Given the description of an element on the screen output the (x, y) to click on. 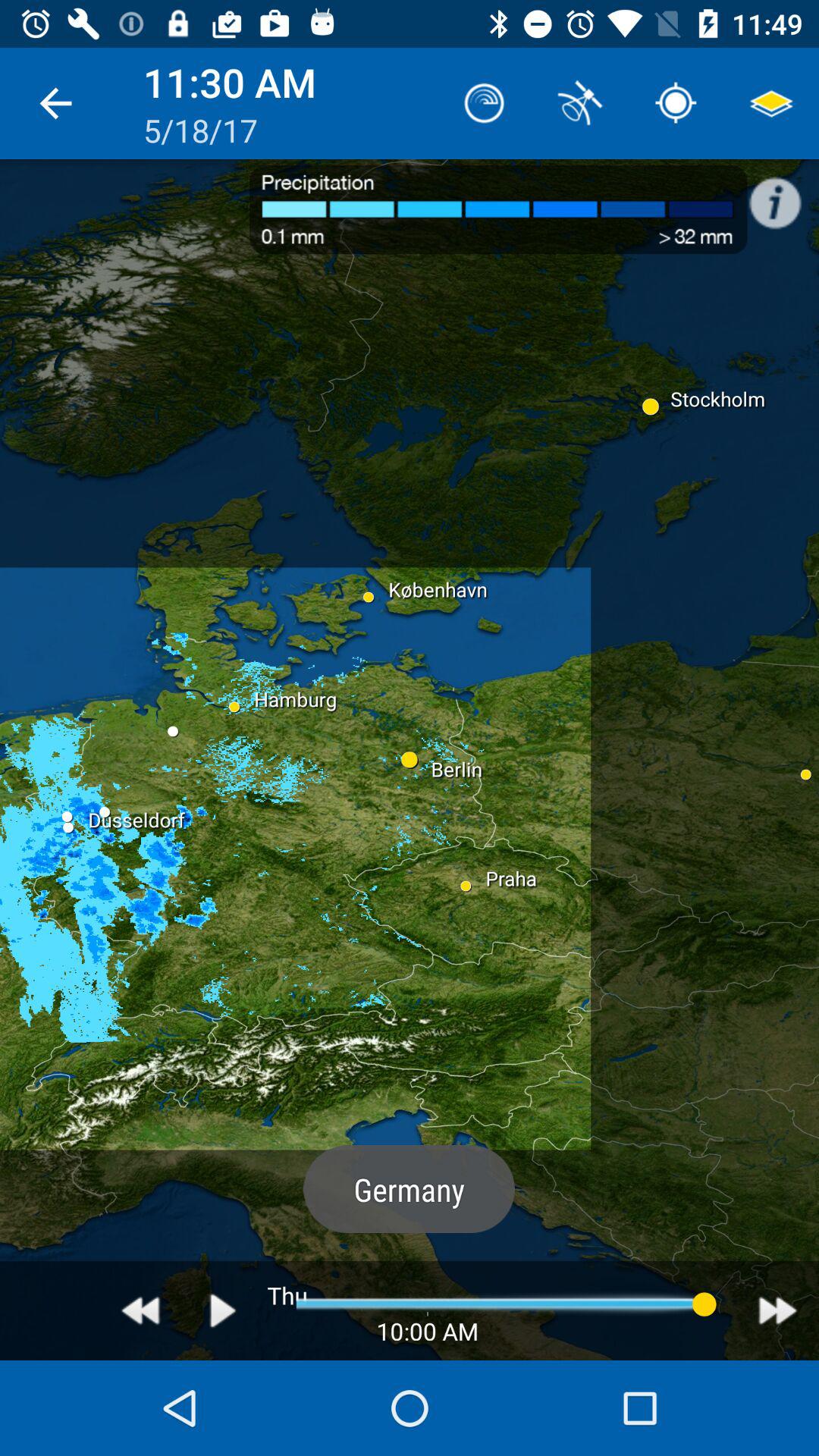
press item to the left of 11:30 am (55, 103)
